Given the description of an element on the screen output the (x, y) to click on. 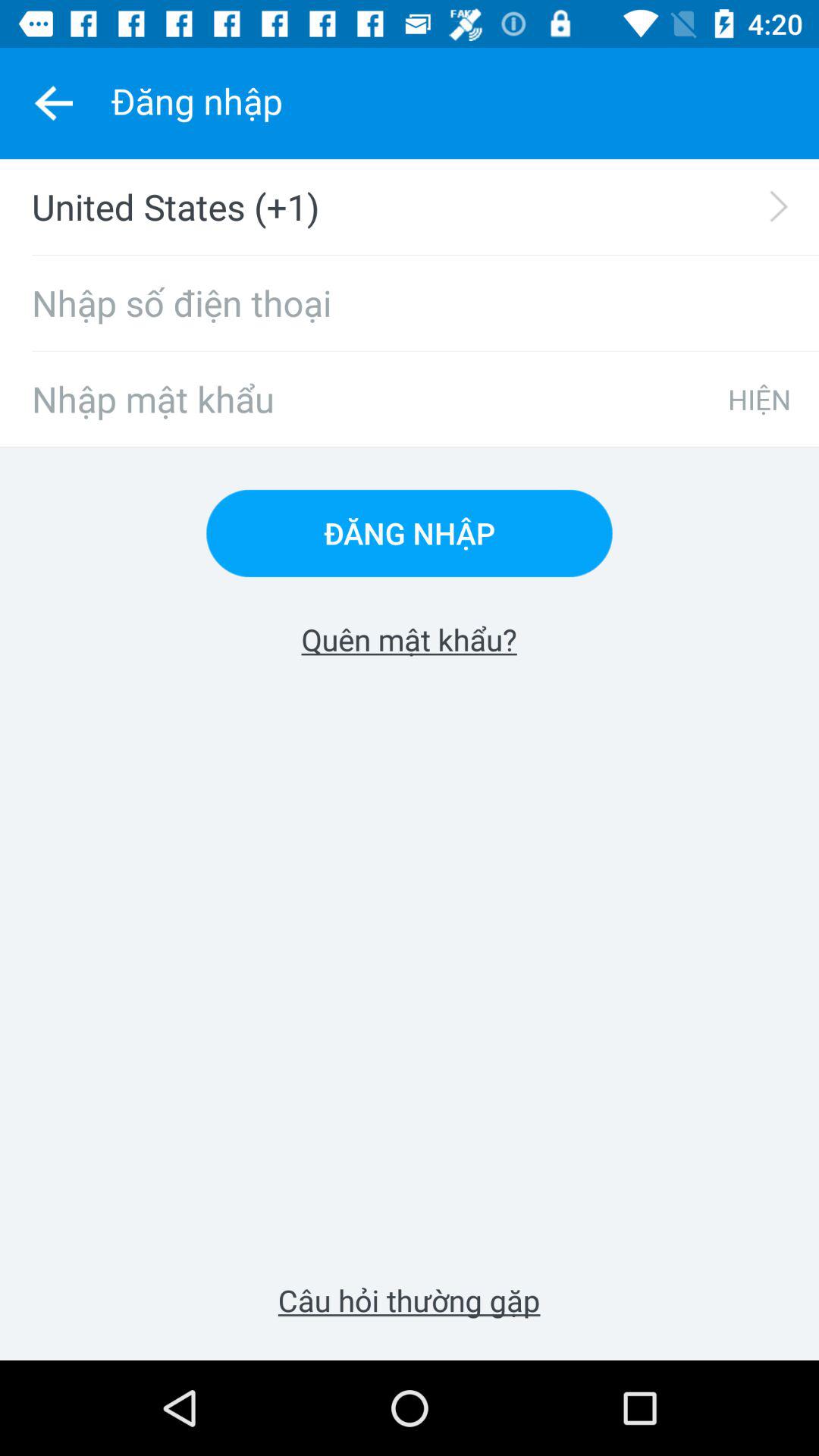
launch icon below united states (+1) icon (409, 302)
